Given the description of an element on the screen output the (x, y) to click on. 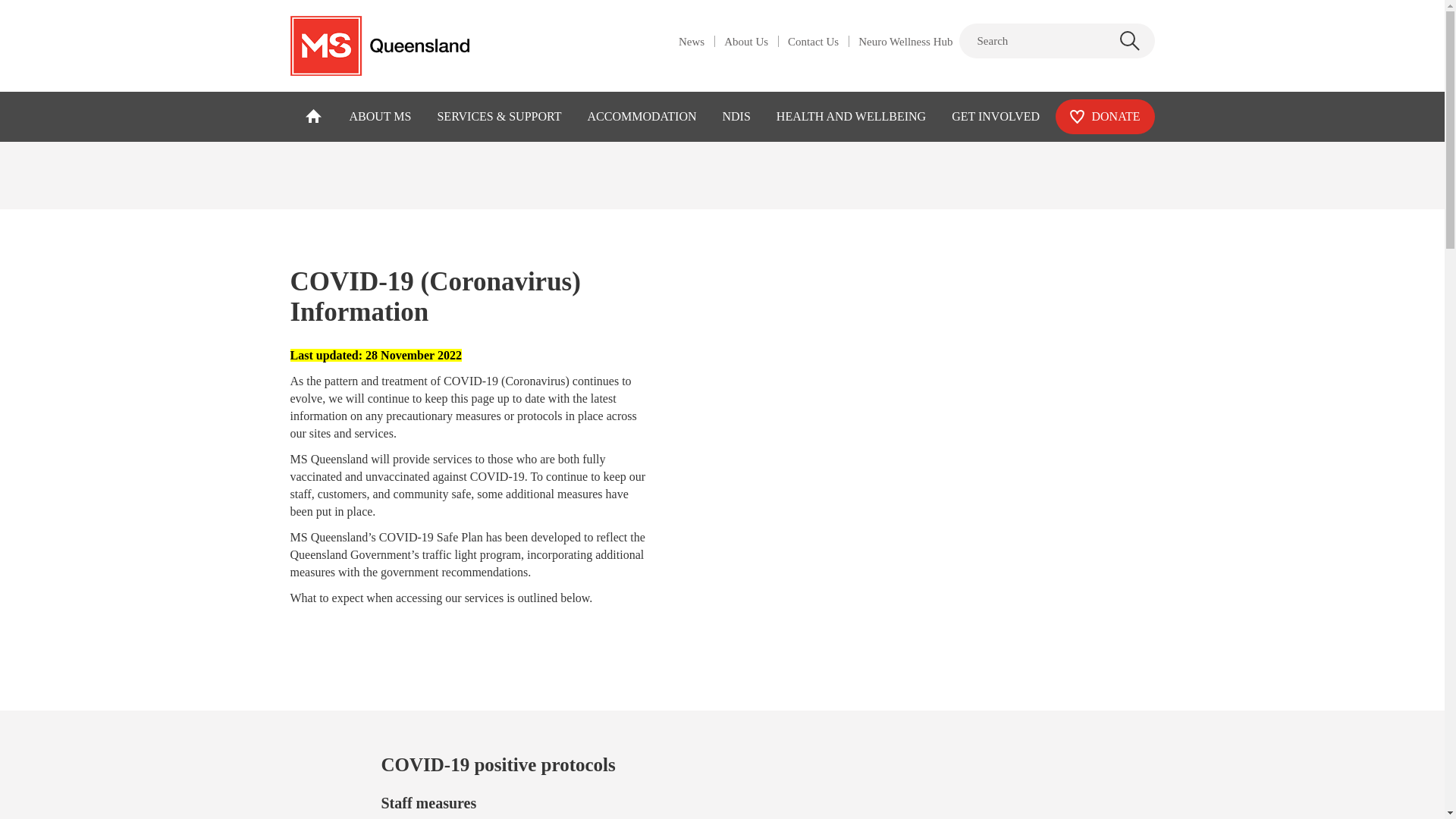
About Us (745, 43)
News (691, 43)
Contact Us (812, 43)
Neuro Wellness Hub (905, 43)
